Given the description of an element on the screen output the (x, y) to click on. 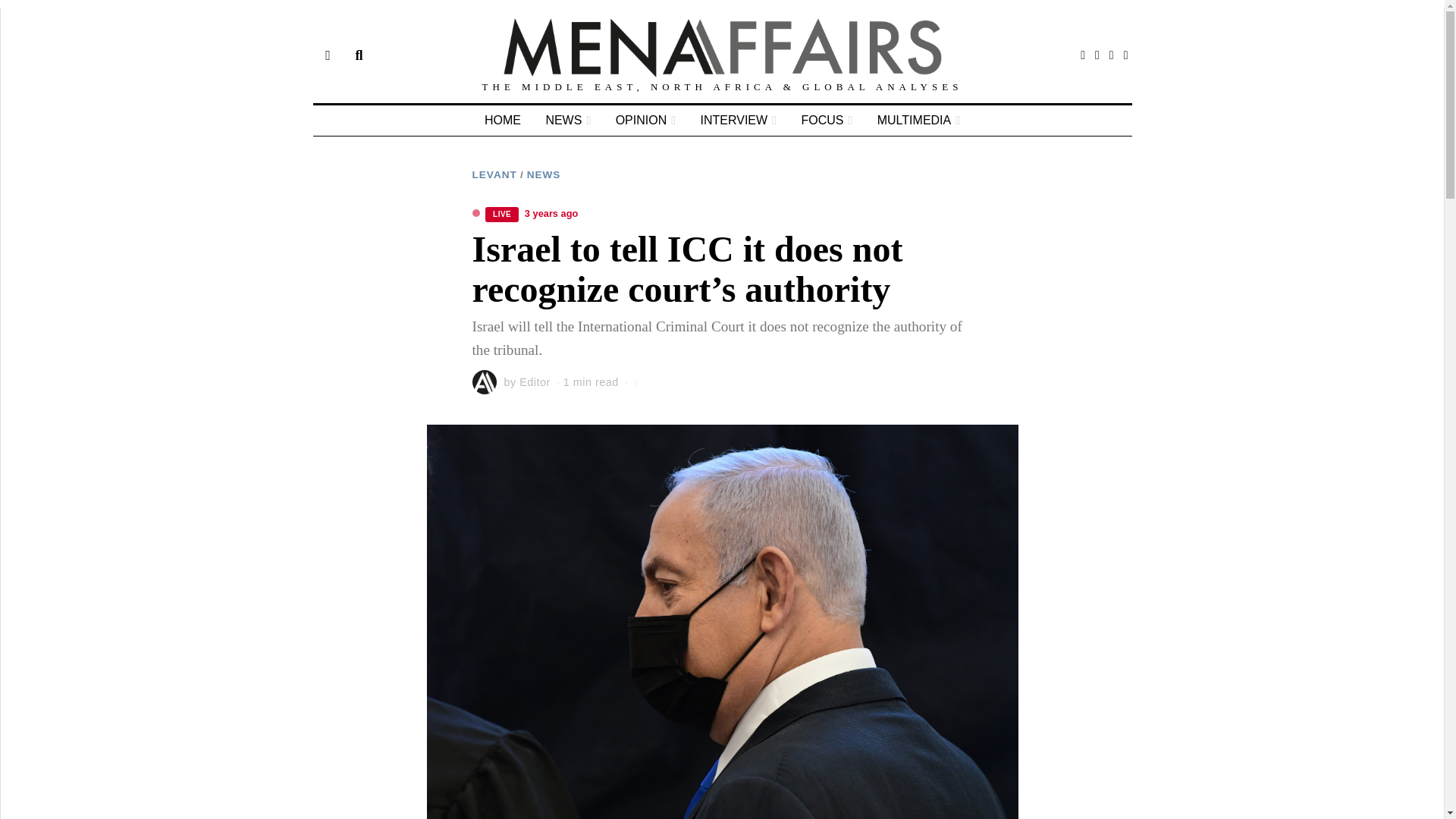
Editor (534, 381)
INTERVIEW (738, 120)
LEVANT (493, 174)
OPINION (645, 120)
NEWS (567, 120)
FOCUS (826, 120)
HOME (502, 120)
MULTIMEDIA (918, 120)
NEWS (543, 174)
